Given the description of an element on the screen output the (x, y) to click on. 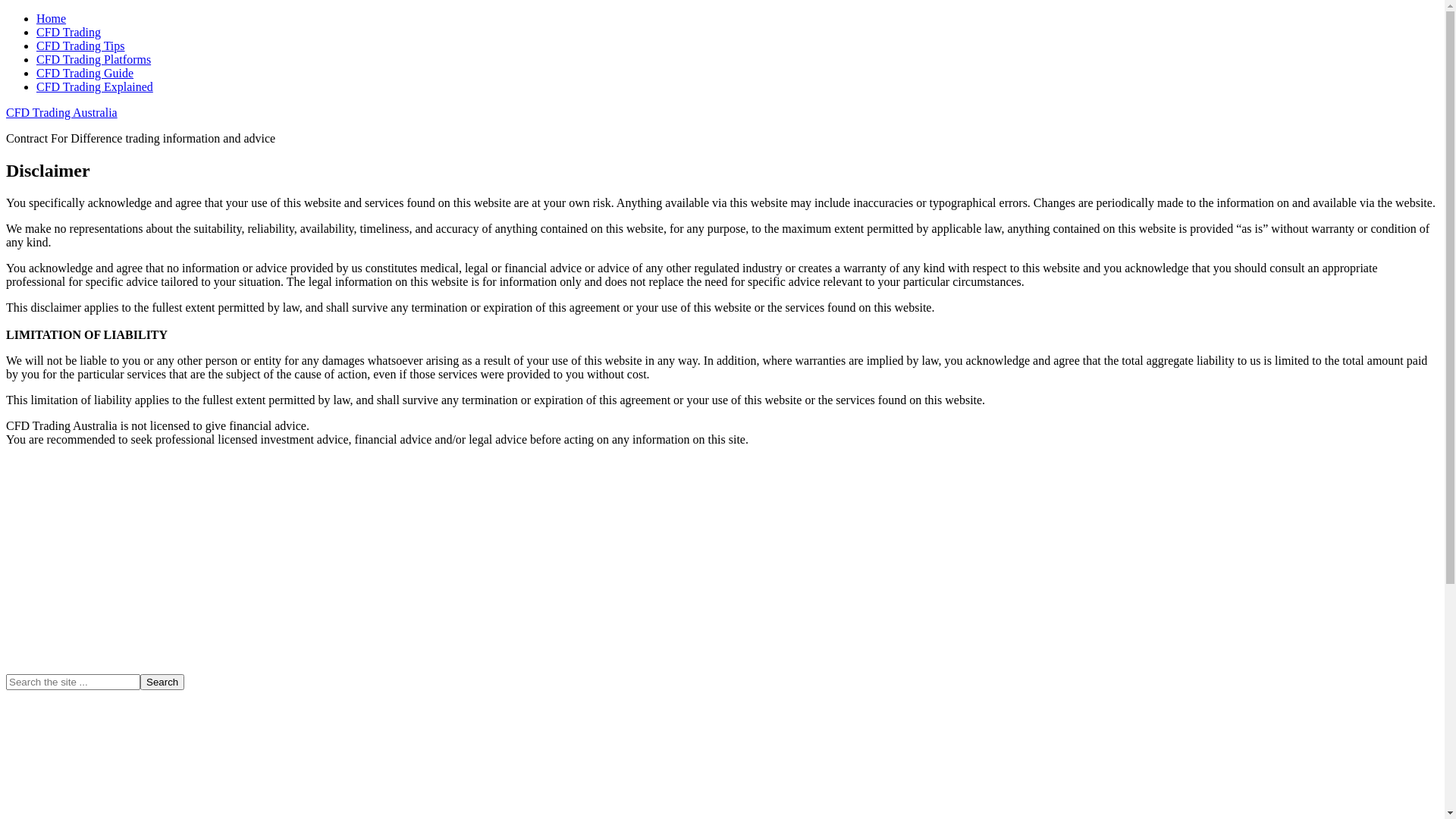
Home Element type: text (50, 18)
CFD Trading Tips Element type: text (80, 45)
CFD Trading Guide Element type: text (84, 72)
CFD Trading Platforms Element type: text (93, 59)
CFD Trading Explained Element type: text (94, 86)
Search Element type: text (162, 682)
CFD Trading Element type: text (68, 31)
CFD Trading Australia Element type: text (61, 112)
